Given the description of an element on the screen output the (x, y) to click on. 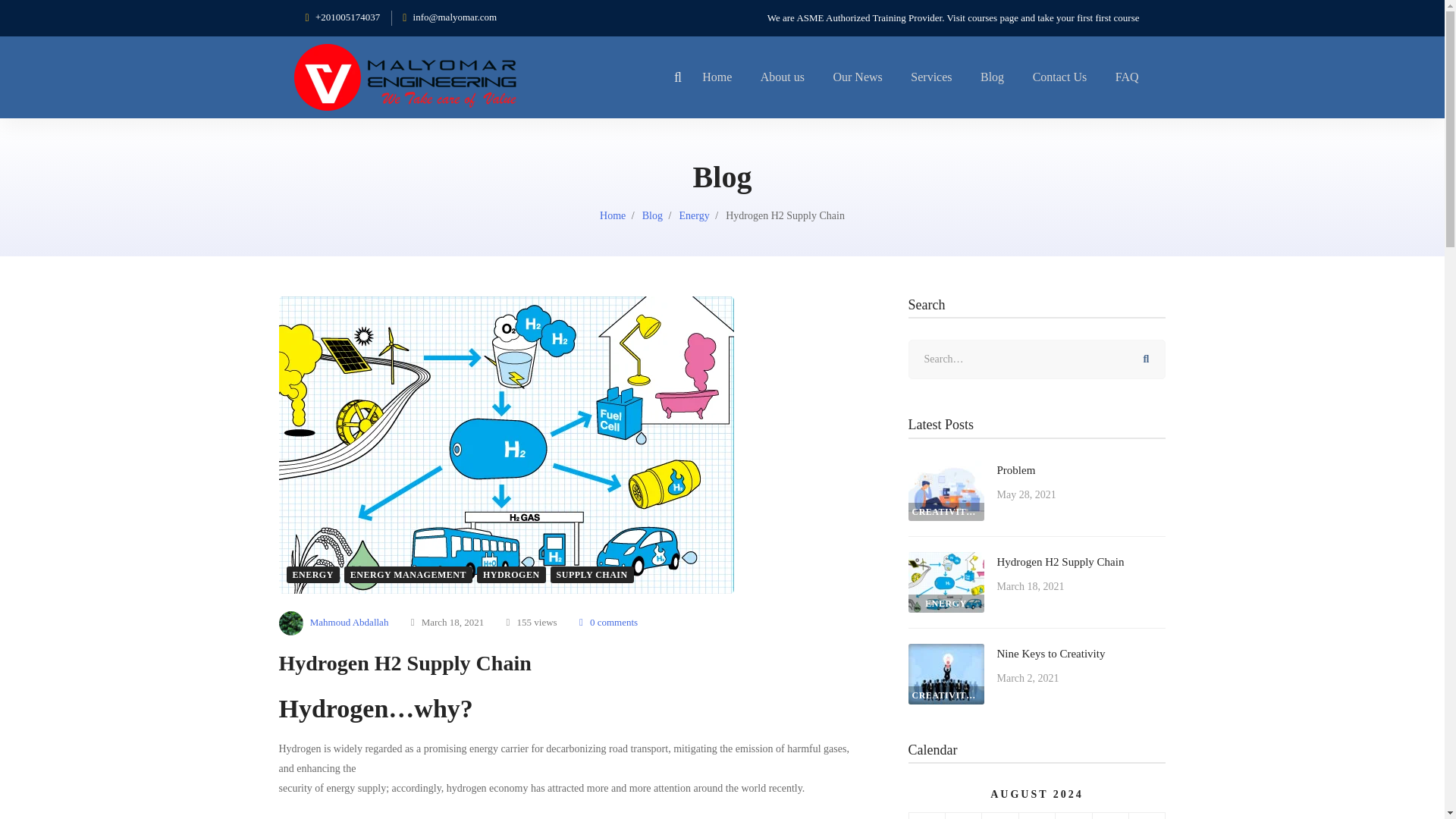
FAQ (1126, 76)
About us (782, 76)
Friday (1110, 816)
Mahmoud Abdallah (333, 622)
Sunday (926, 816)
ENERGY MANAGEMENT (407, 574)
0 comments (608, 622)
Services (930, 76)
Wednesday (1035, 816)
Contact Us (1060, 76)
Blog (652, 215)
Search for: (1037, 359)
HYDROGEN (511, 574)
Thursday (1073, 816)
ENERGY (312, 574)
